Given the description of an element on the screen output the (x, y) to click on. 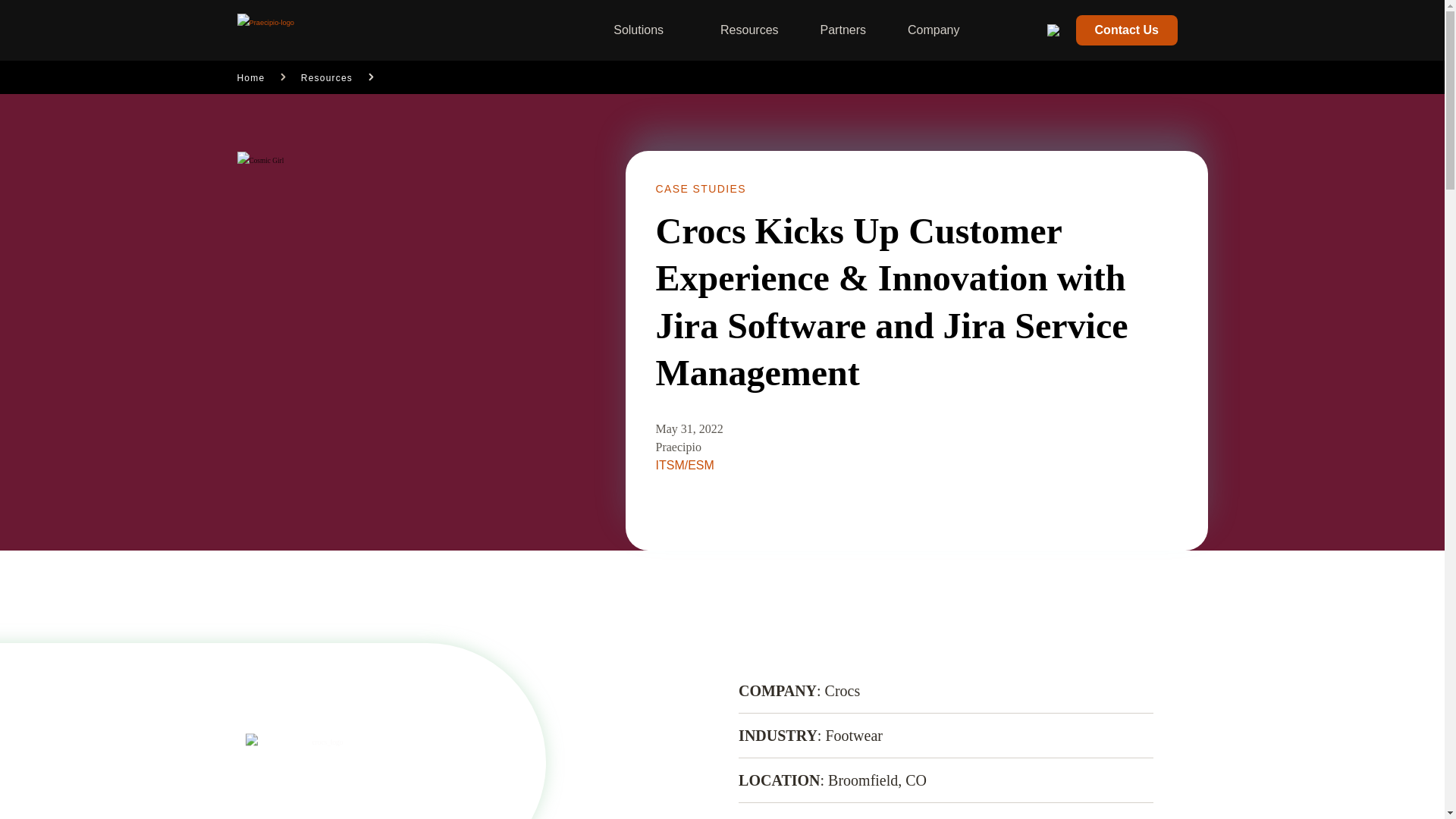
Partners (843, 29)
Solutions (638, 30)
Company (933, 30)
Resources (748, 30)
